Given the description of an element on the screen output the (x, y) to click on. 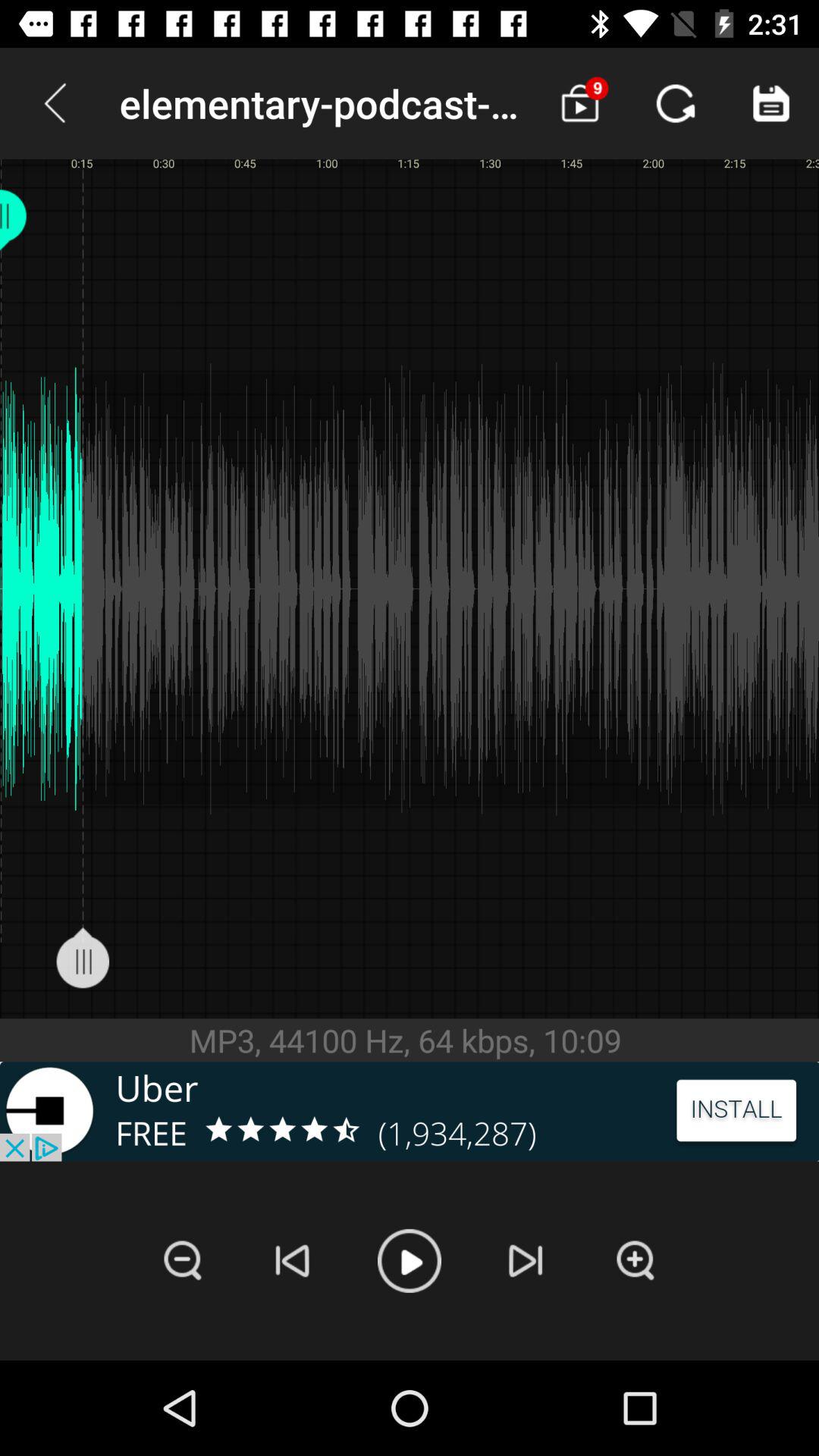
fast forward (526, 1260)
